Given the description of an element on the screen output the (x, y) to click on. 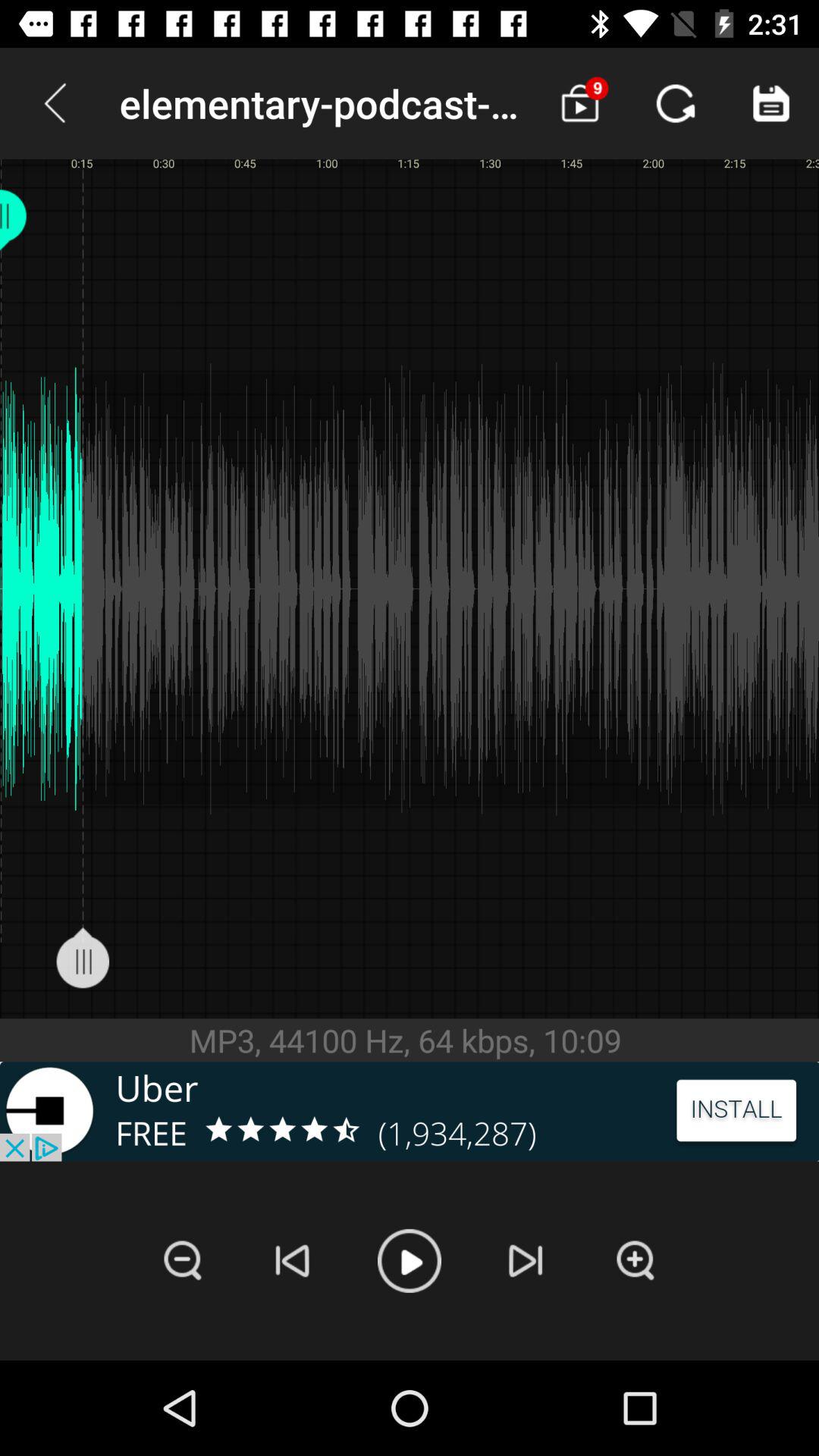
fast forward (526, 1260)
